Given the description of an element on the screen output the (x, y) to click on. 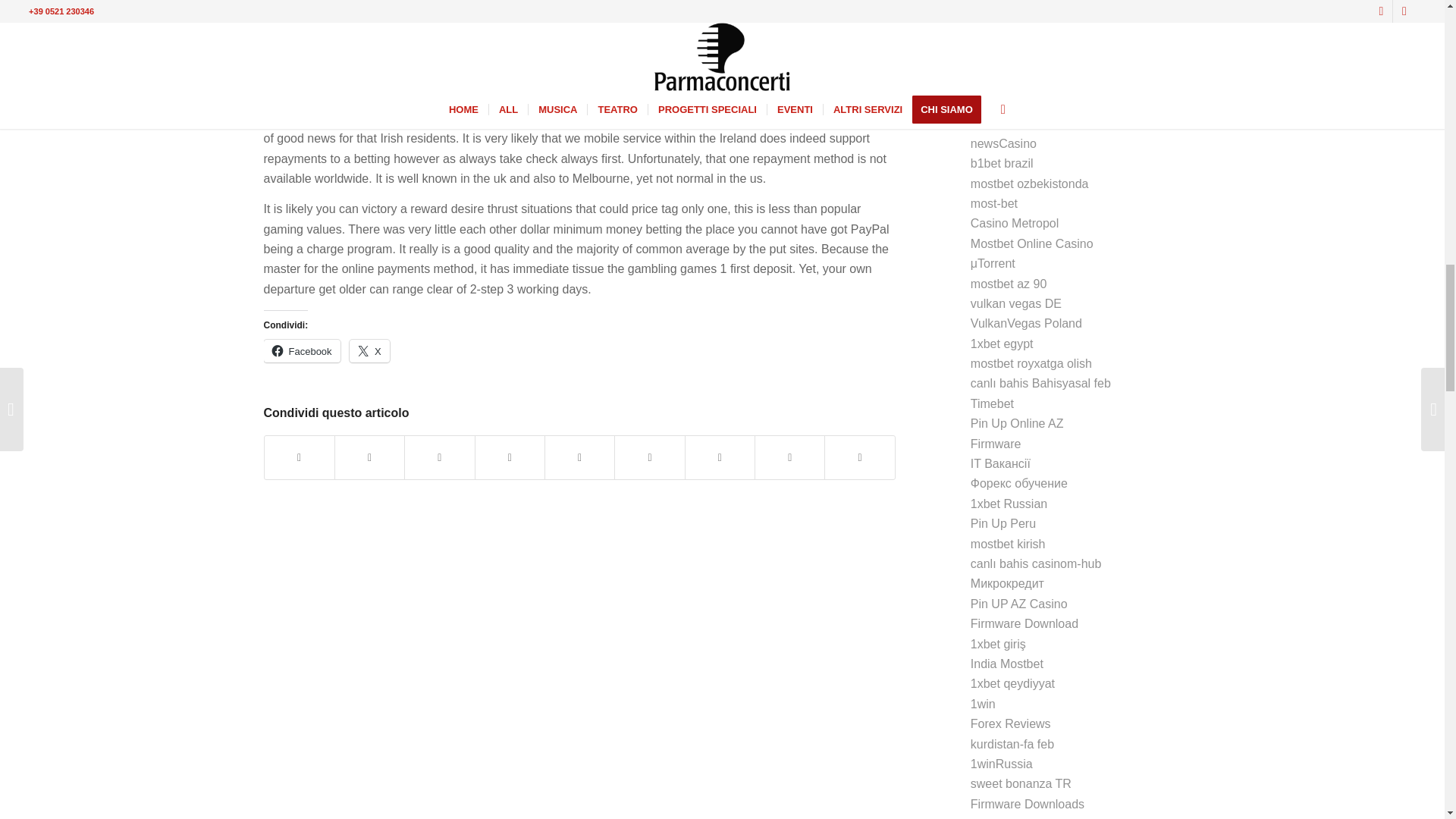
Fai clic per condividere su Facebook (301, 350)
Facebook (301, 350)
X (369, 350)
Fai clic per condividere su X (369, 350)
